Given the description of an element on the screen output the (x, y) to click on. 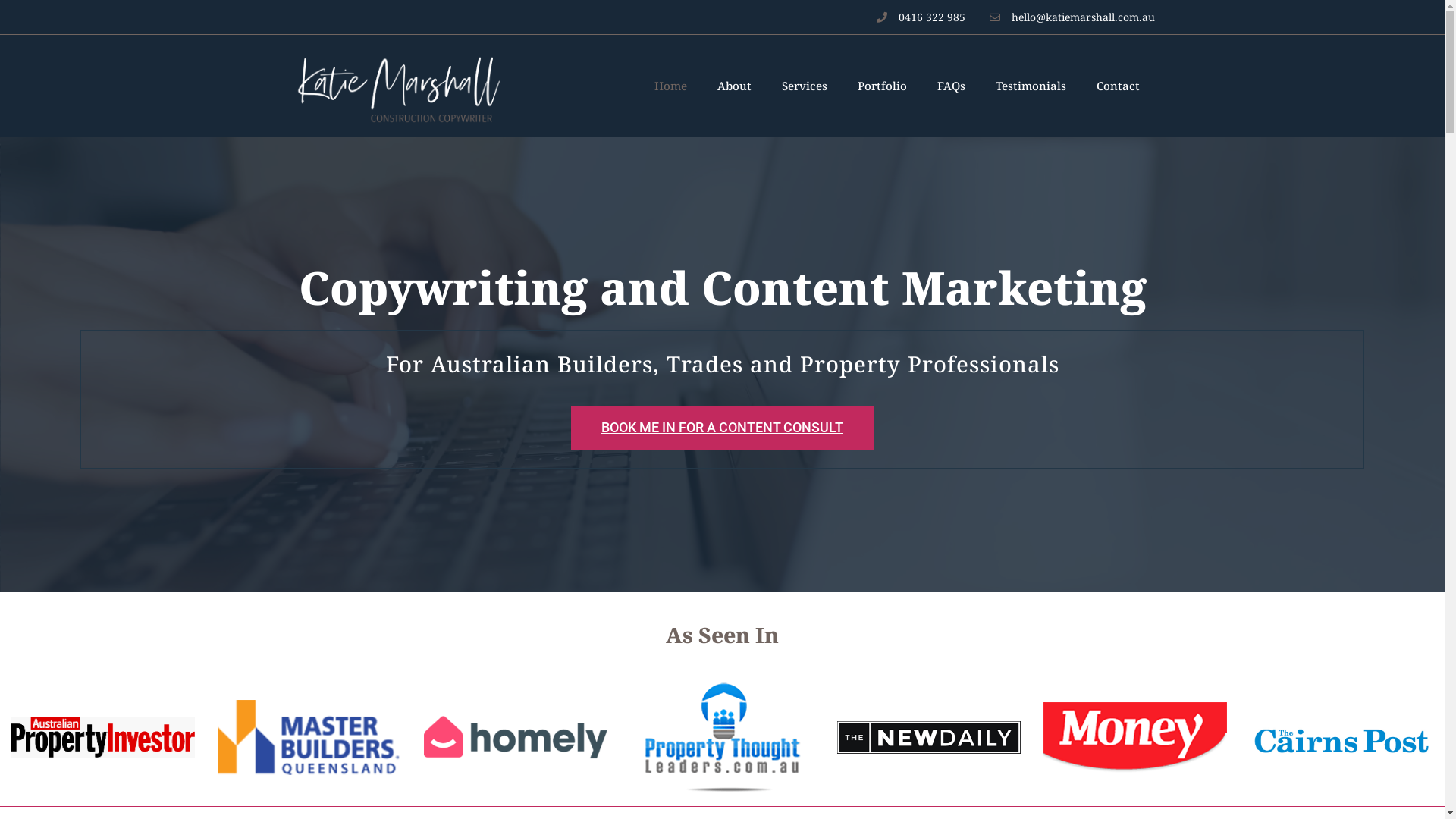
BOOK ME IN FOR A CONTENT CONSULT Element type: text (722, 427)
About Element type: text (734, 85)
hello@katiemarshall.com.au Element type: text (1070, 17)
Cairns_Post_Logo Element type: hover (1341, 737)
homely-logo Element type: hover (515, 736)
Contact Element type: text (1117, 85)
money_logo Element type: hover (1134, 737)
Portfolio Element type: text (881, 85)
Australian-Property-Investor-Magazine Element type: hover (102, 737)
The New Daily Logo Element type: hover (928, 737)
Services Element type: text (803, 85)
Home Element type: text (669, 85)
0416 322 985 Element type: text (919, 17)
property_thought_leaders Element type: hover (721, 737)
Testimonials Element type: text (1029, 85)
mba-logo Element type: hover (309, 737)
FAQs Element type: text (951, 85)
